Given the description of an element on the screen output the (x, y) to click on. 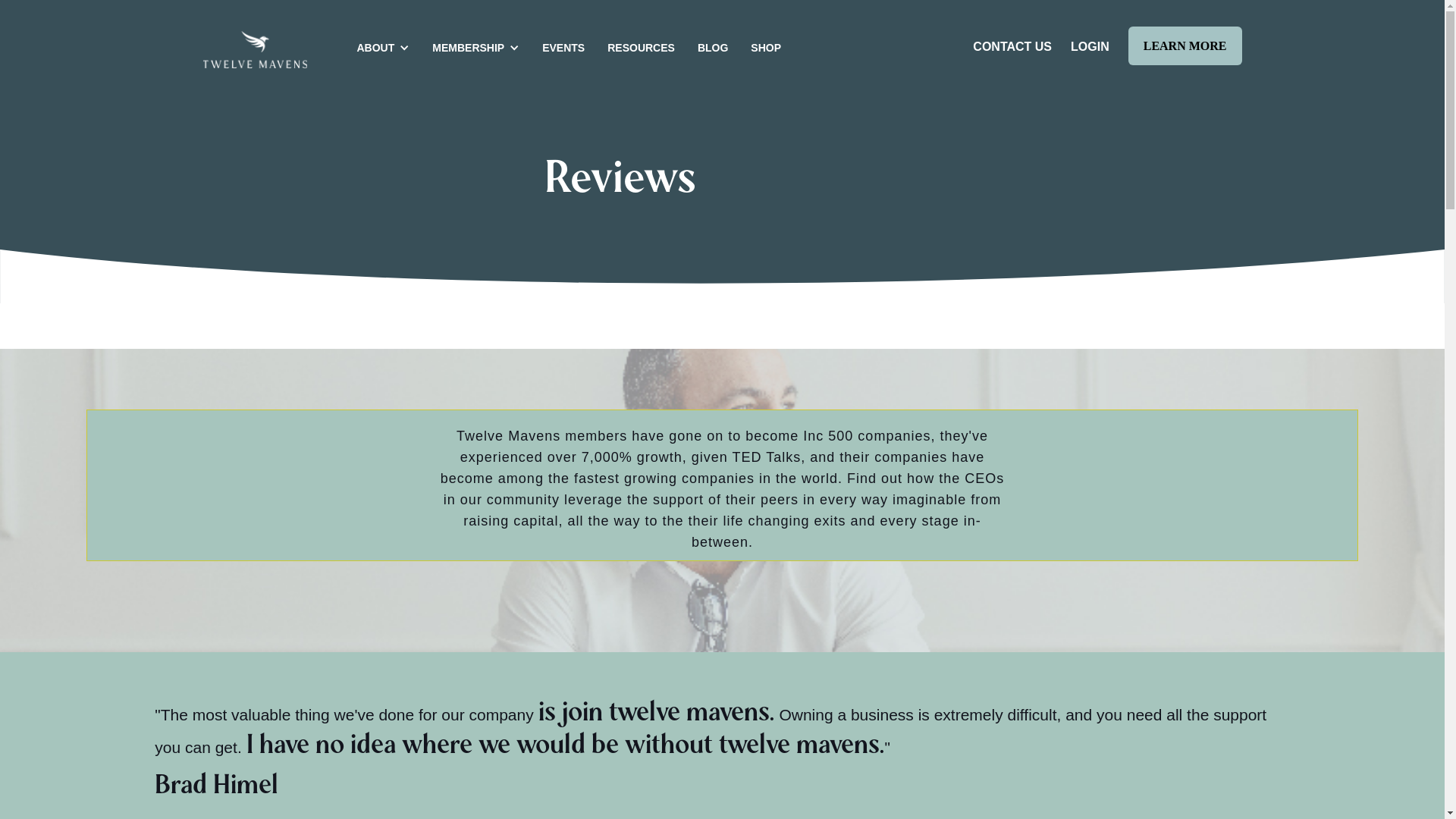
EVENTS Element type: text (559, 46)
BLOG Element type: text (708, 46)
LEARN MORE Element type: text (1185, 45)
LOGIN Element type: text (1099, 46)
RESOURCES Element type: text (637, 46)
SHOP Element type: text (761, 46)
